Given the description of an element on the screen output the (x, y) to click on. 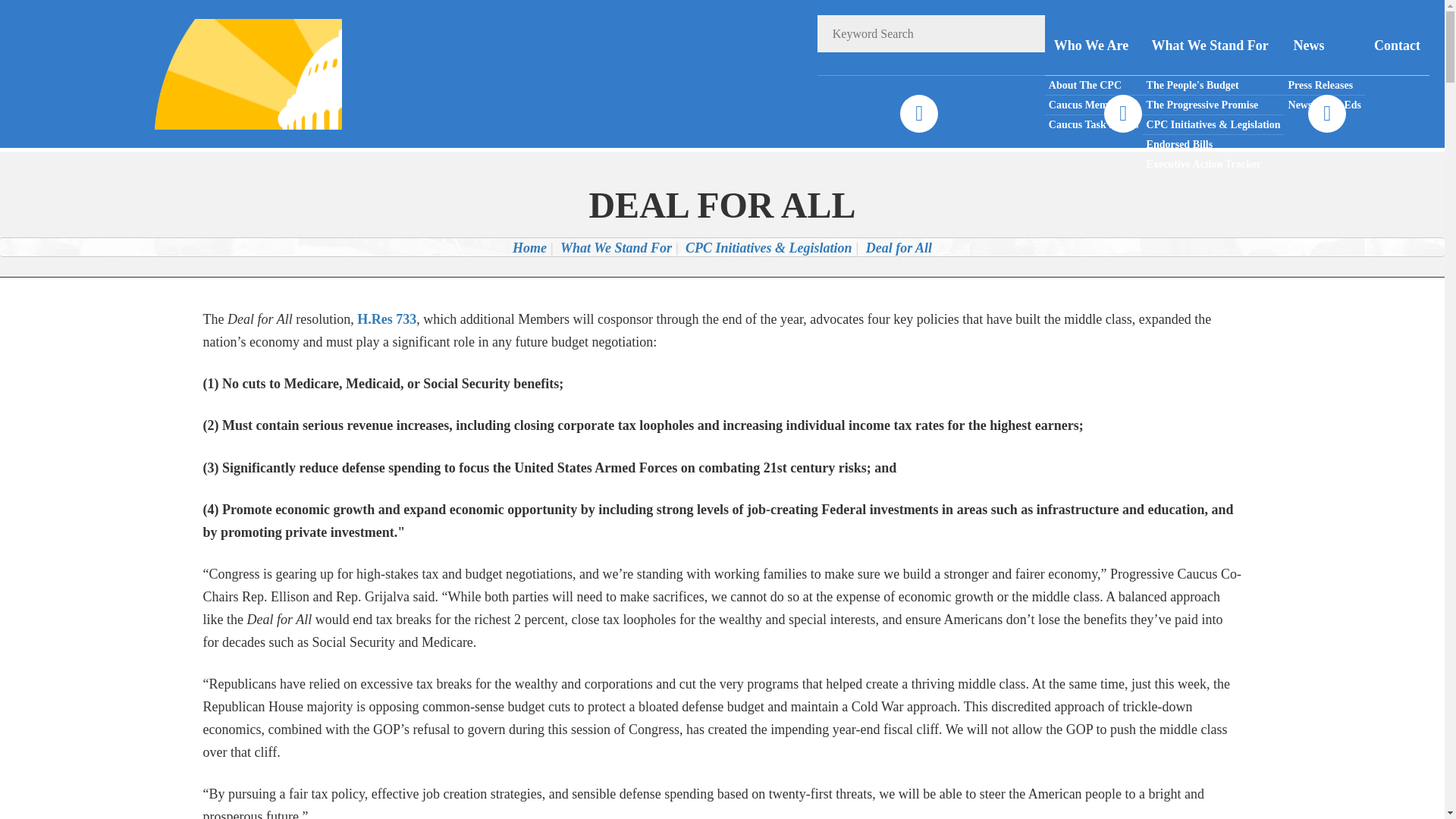
Caucus Members (1093, 105)
Executive Action Tracker (1213, 163)
What We Stand For (1213, 45)
The Progressive Promise (1213, 105)
Contact (1397, 45)
Home (529, 247)
Who We Are (1093, 45)
Facebook (918, 113)
About The CPC (1093, 85)
Press Releases (1324, 85)
The People's Budget (1213, 85)
Twitter (1122, 113)
CONGRESSIONAL PROGRESSIVE CAUCUS (228, 73)
What We Stand For (615, 247)
News (1324, 45)
